Given the description of an element on the screen output the (x, y) to click on. 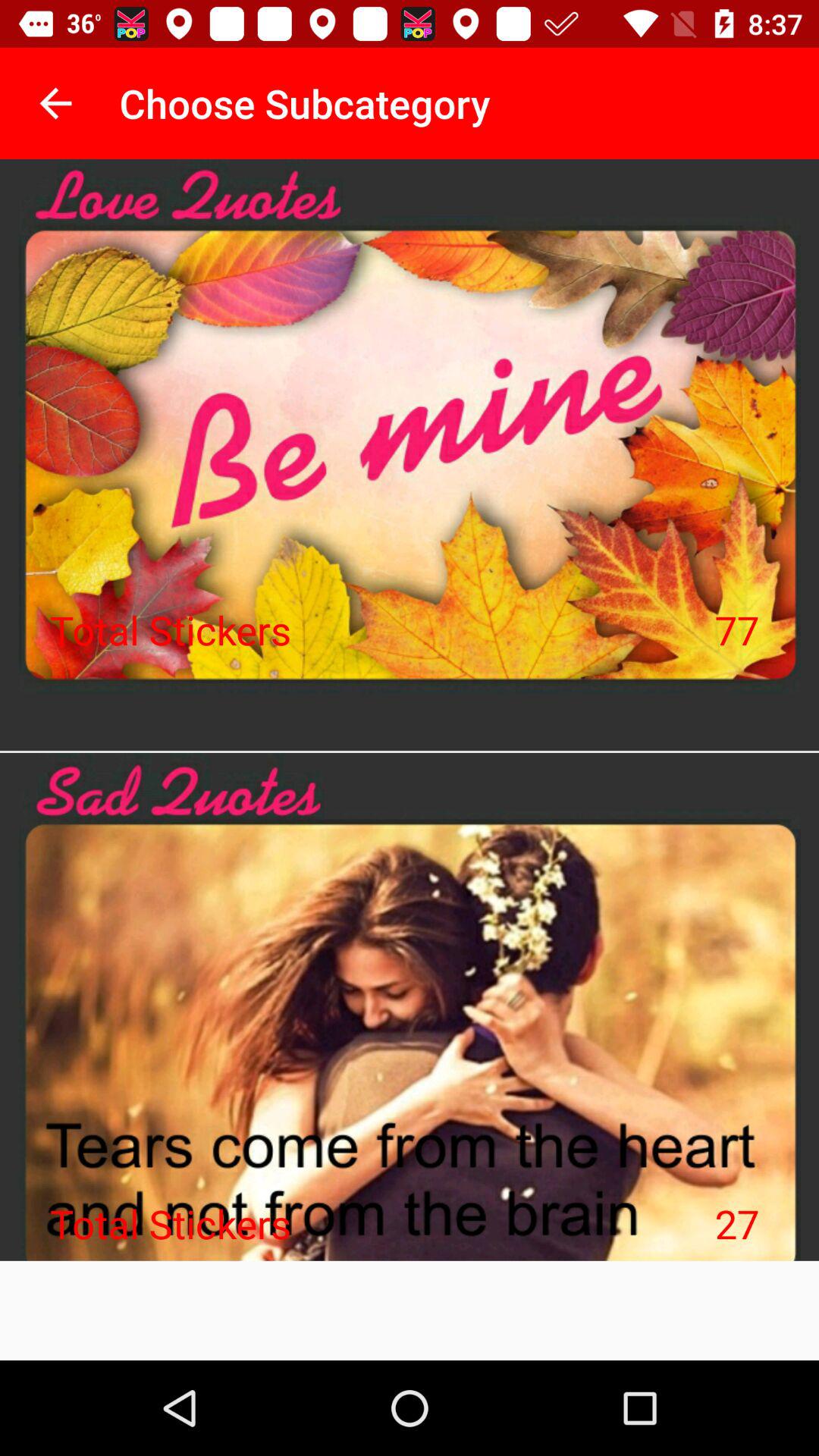
flip to 77 icon (736, 629)
